Given the description of an element on the screen output the (x, y) to click on. 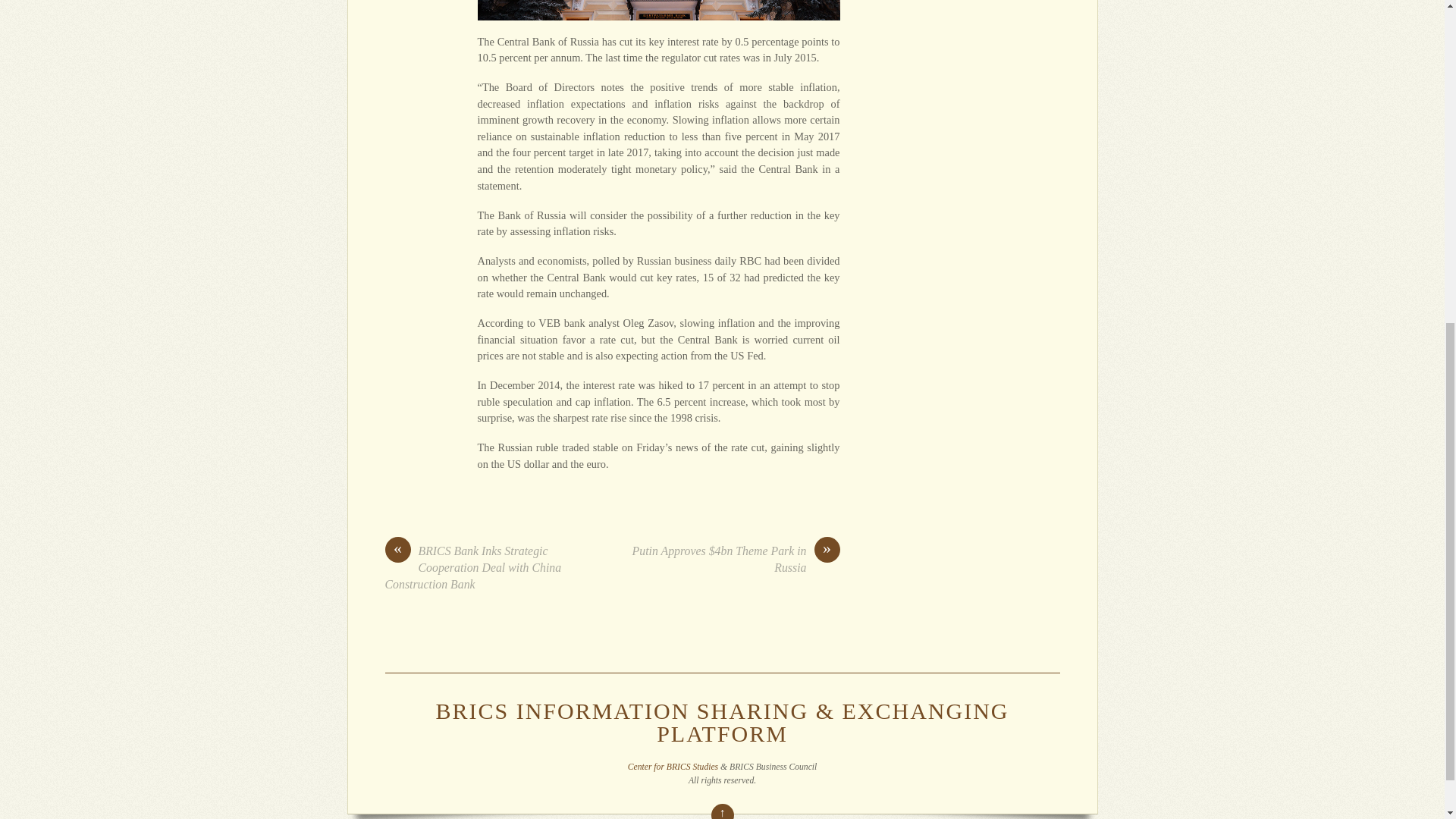
Center for BRICS Studies (672, 767)
